Given the description of an element on the screen output the (x, y) to click on. 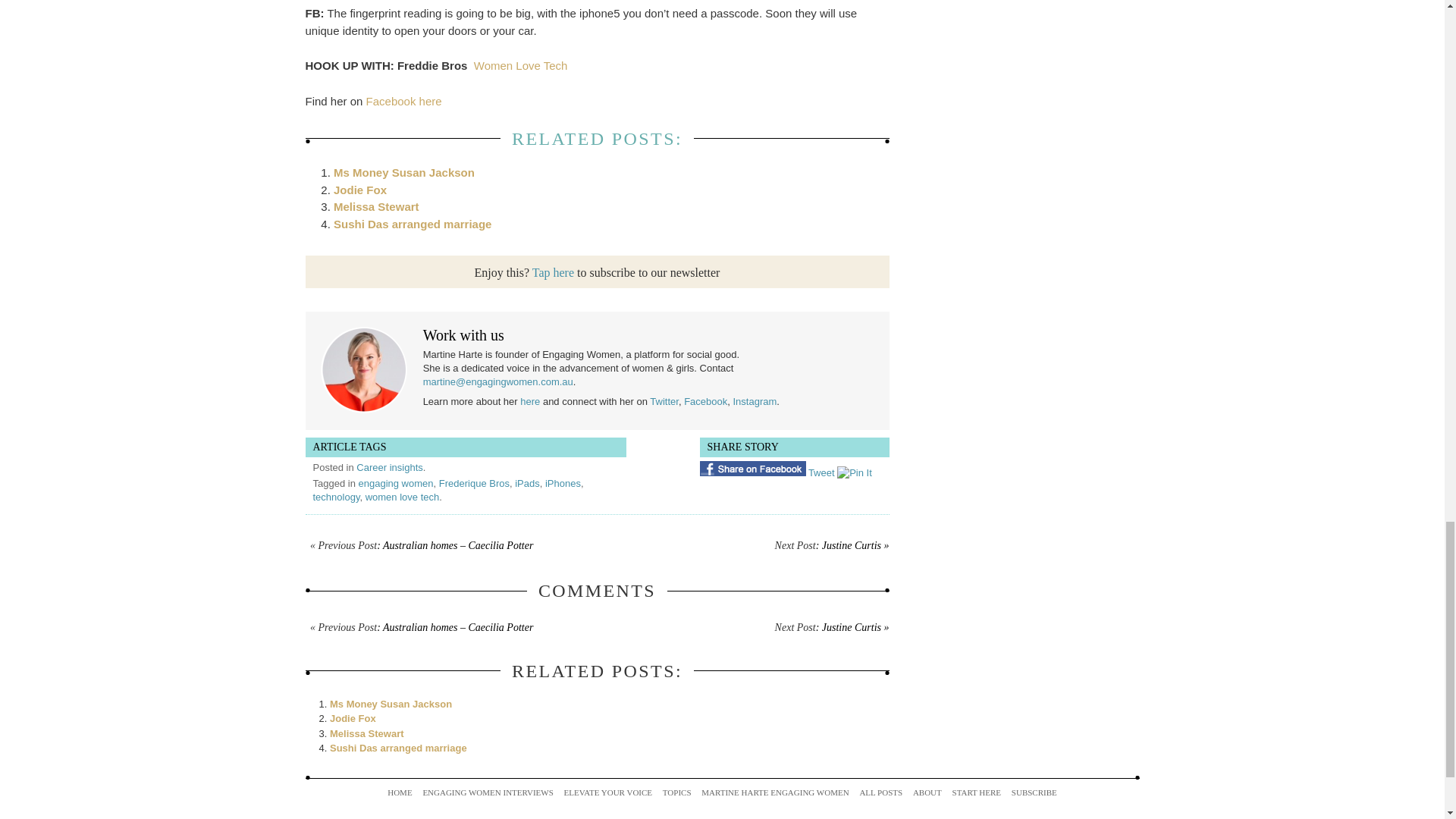
Women Love Tech (520, 65)
Jodie Fox (352, 717)
Ms Money Susan Jackson (403, 172)
iPhones (562, 482)
Pin It (854, 472)
here (529, 401)
Jodie Fox (360, 189)
Sushi Das arranged marriage (412, 223)
Instagram (754, 401)
engaging women (395, 482)
Jodie Fox (360, 189)
Tap here (552, 271)
Melissa Stewart (367, 733)
Ms Money Susan Jackson (403, 172)
iPads (527, 482)
